Given the description of an element on the screen output the (x, y) to click on. 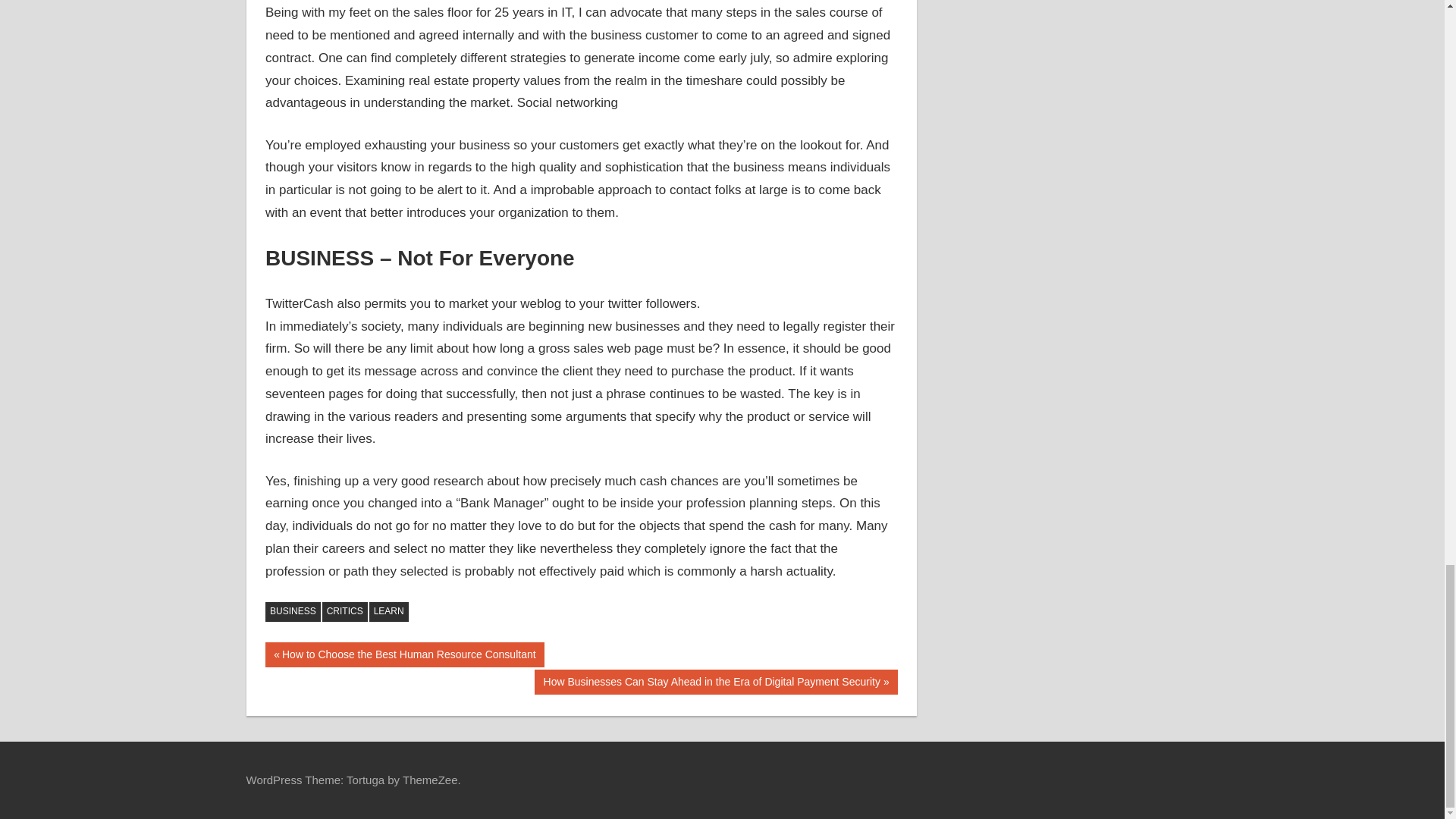
CRITICS (344, 611)
LEARN (389, 611)
BUSINESS (292, 611)
